Given the description of an element on the screen output the (x, y) to click on. 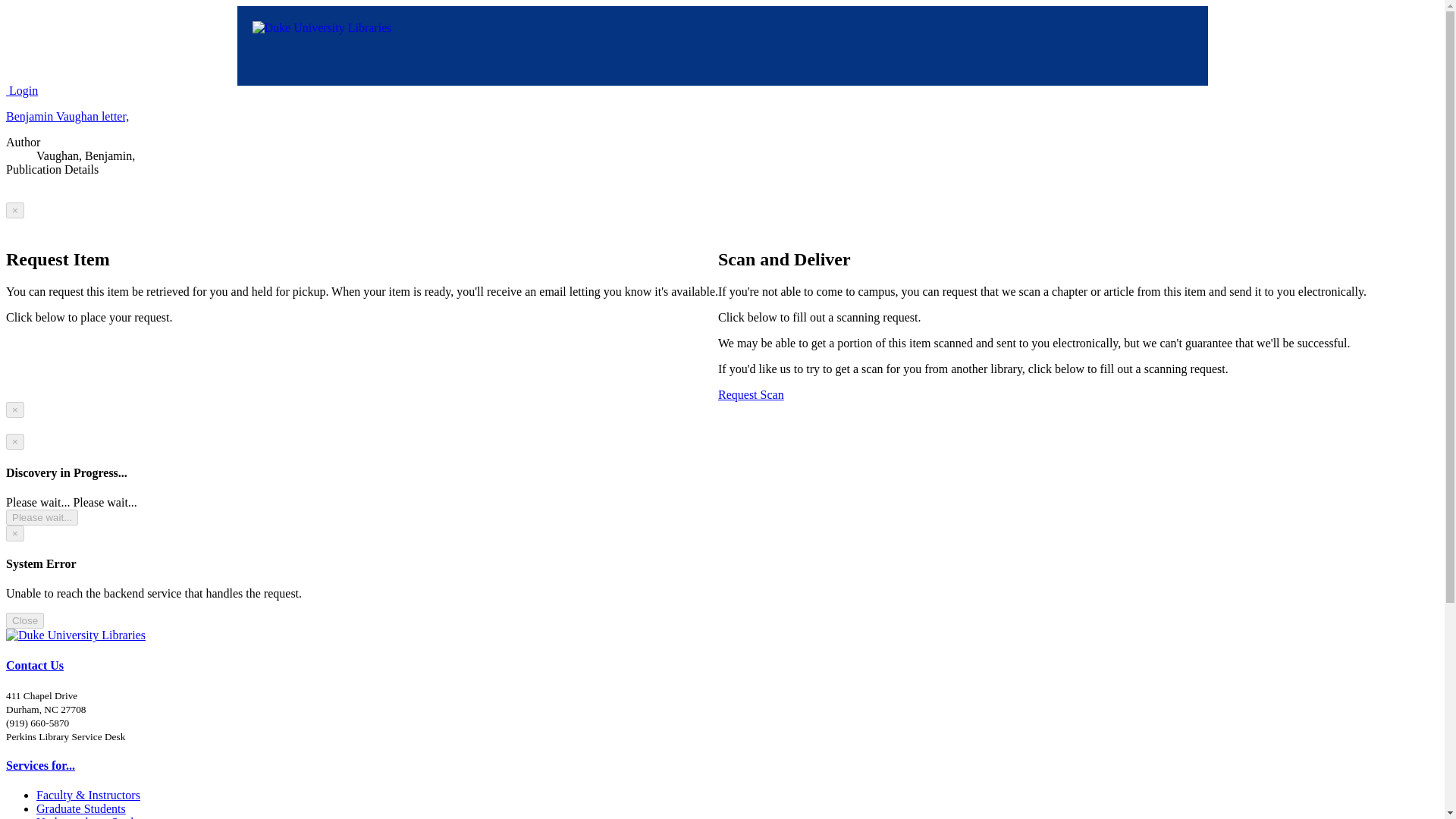
Services for... (40, 765)
Benjamin Vaughan letter, (67, 115)
Close (24, 620)
Graduate Students (80, 808)
Contact Us (34, 665)
Please wait... (41, 517)
Undergraduate Students (94, 817)
Request Scan (750, 394)
 Login (21, 90)
